Given the description of an element on the screen output the (x, y) to click on. 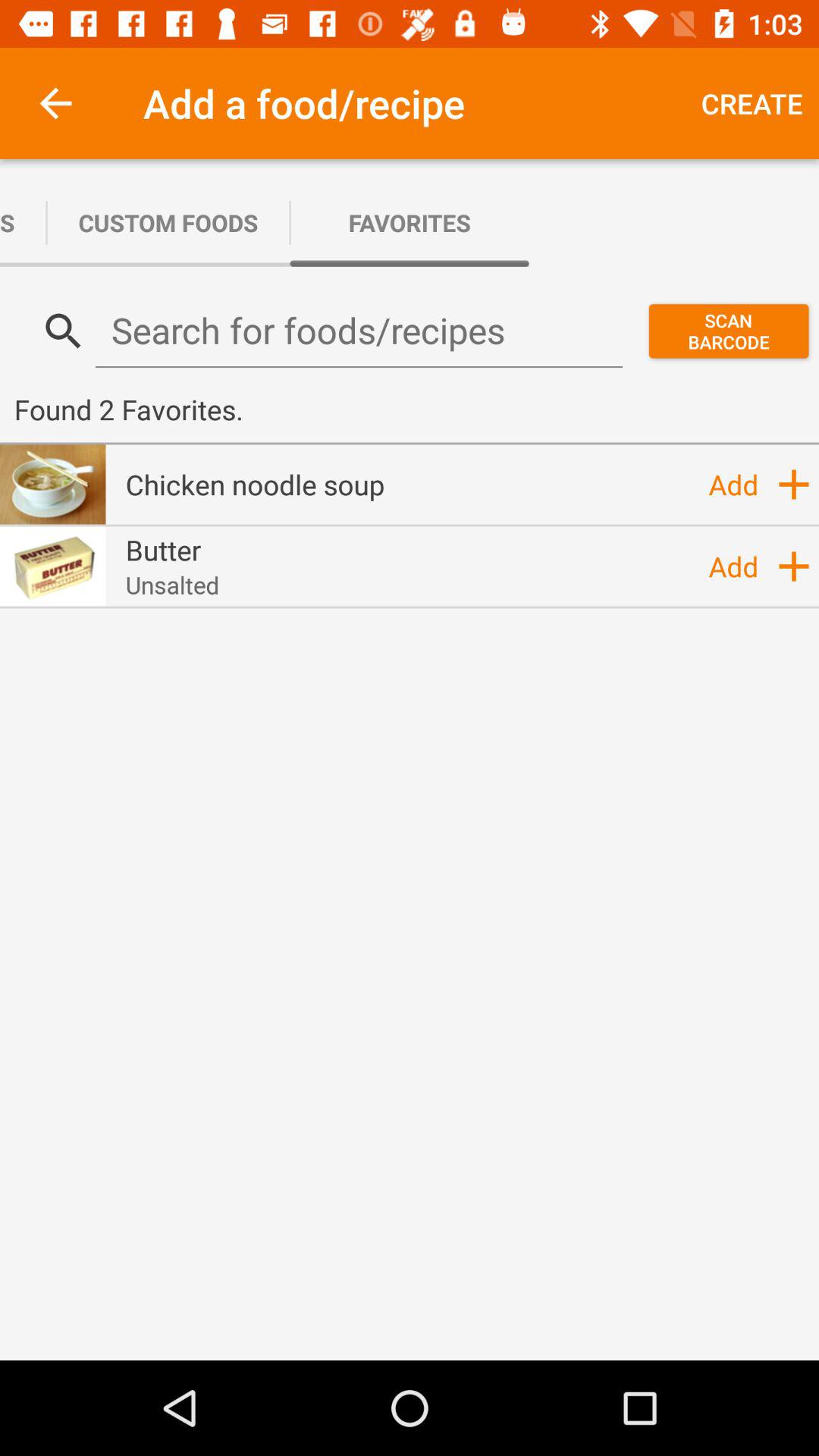
select scan
barcode (728, 331)
